Given the description of an element on the screen output the (x, y) to click on. 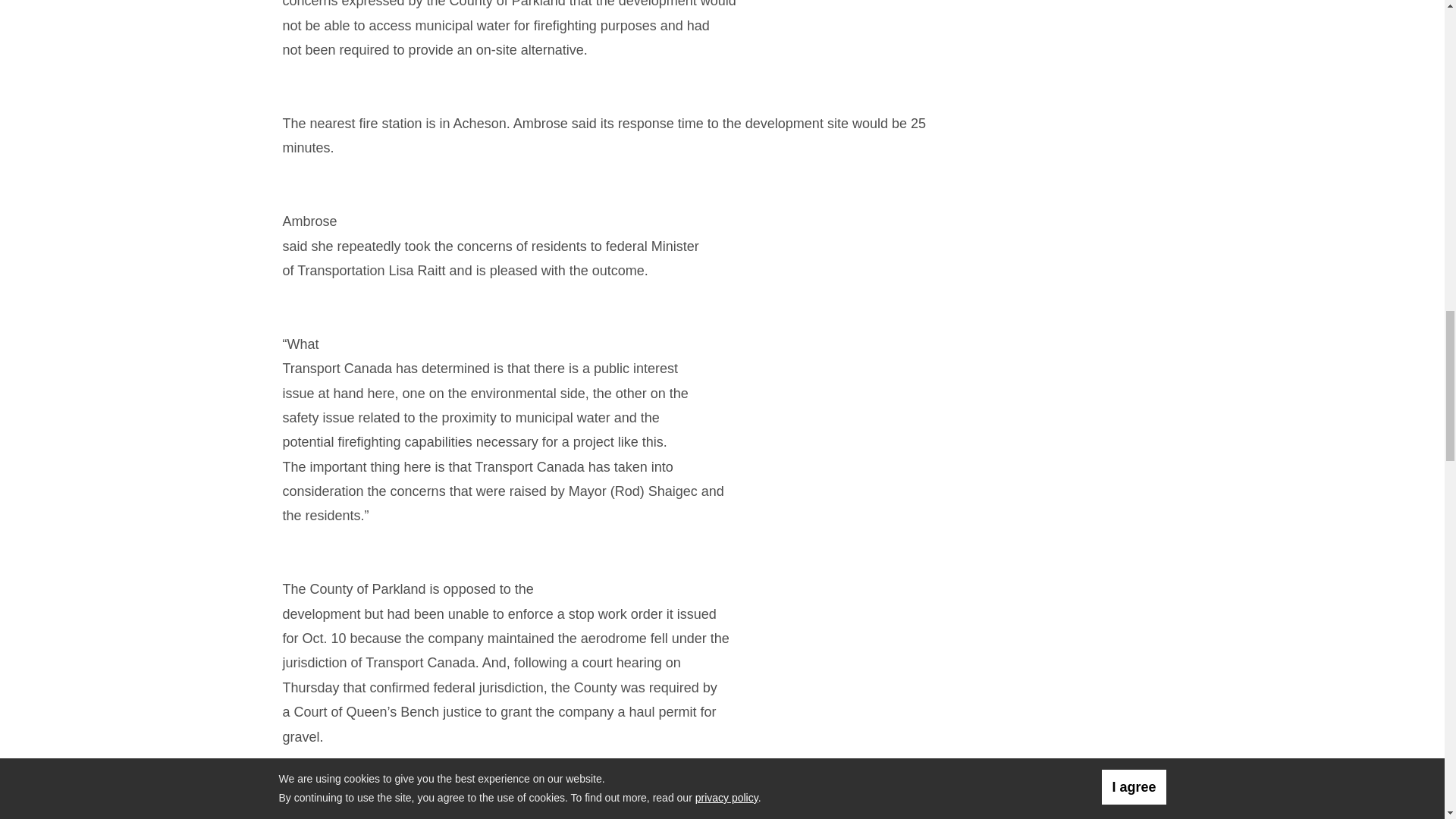
3rd party ad content (1060, 387)
3rd party ad content (1060, 43)
3rd party ad content (1060, 190)
